Given the description of an element on the screen output the (x, y) to click on. 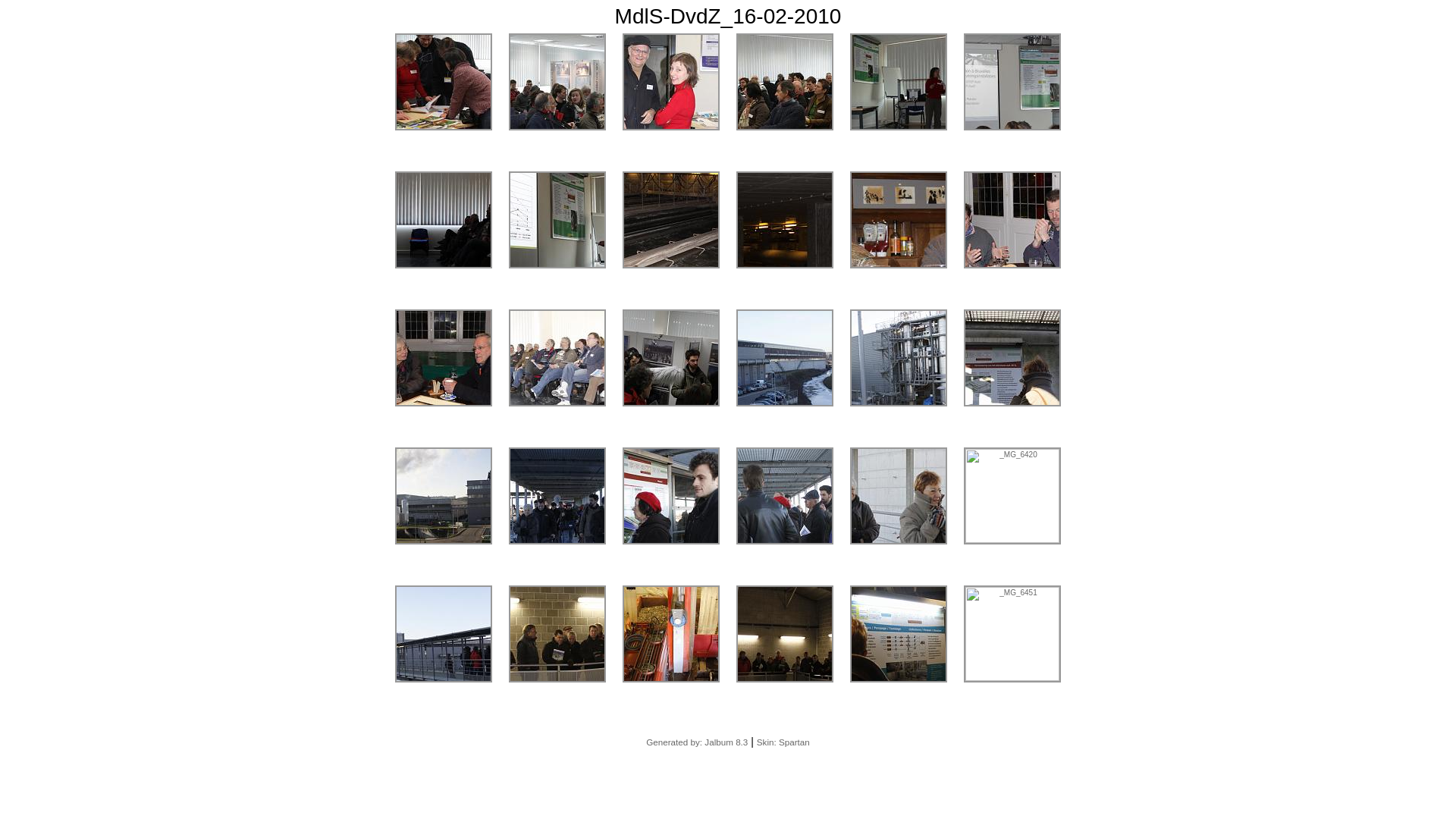
Generated by: Jalbum 8.3 Element type: text (696, 741)
Skin: Spartan Element type: text (782, 741)
